Given the description of an element on the screen output the (x, y) to click on. 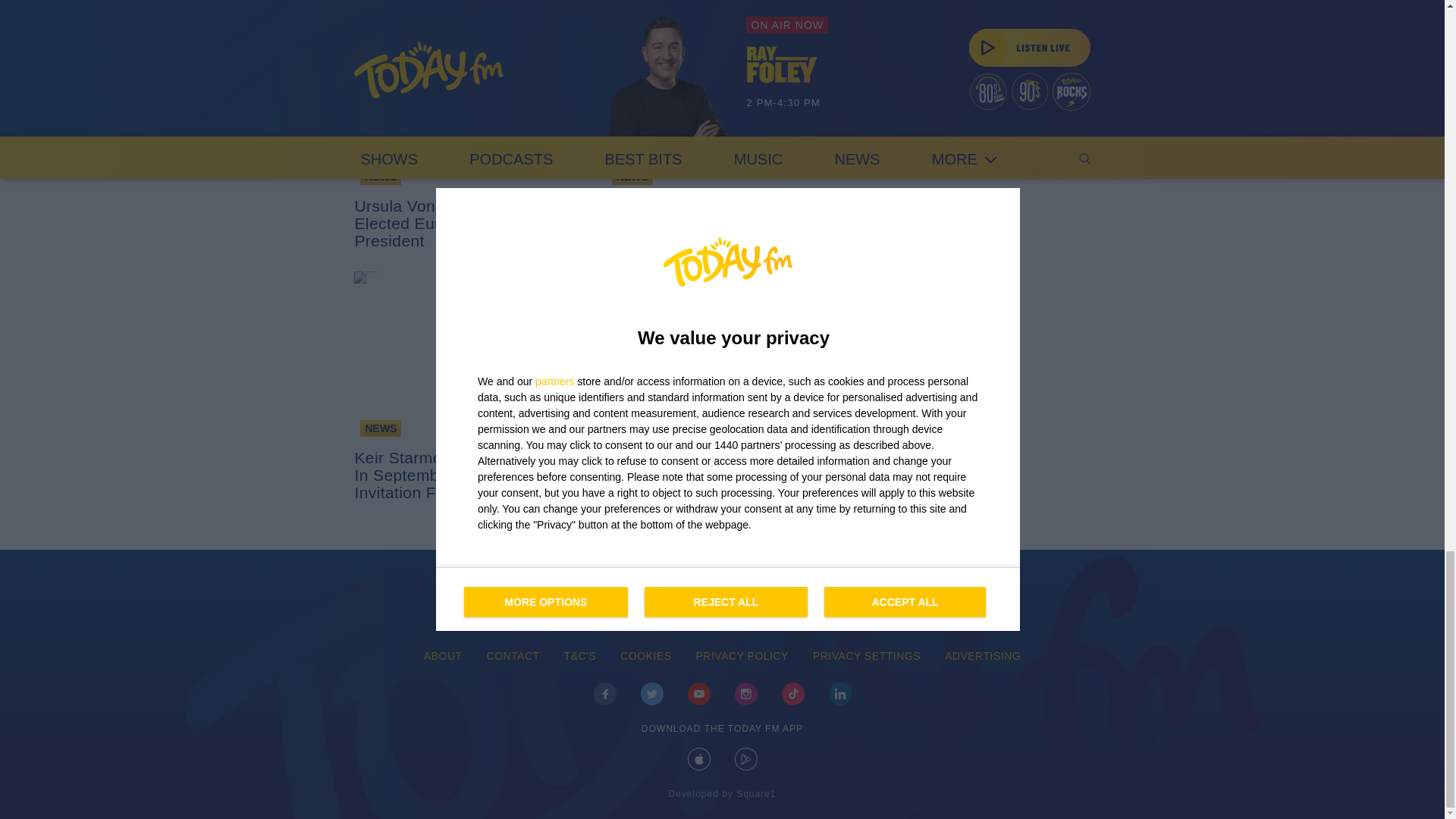
Privacy settings (866, 656)
Advertising (982, 656)
Privacy Policy (742, 656)
Cookies (645, 656)
Contact (512, 656)
About (443, 656)
